Given the description of an element on the screen output the (x, y) to click on. 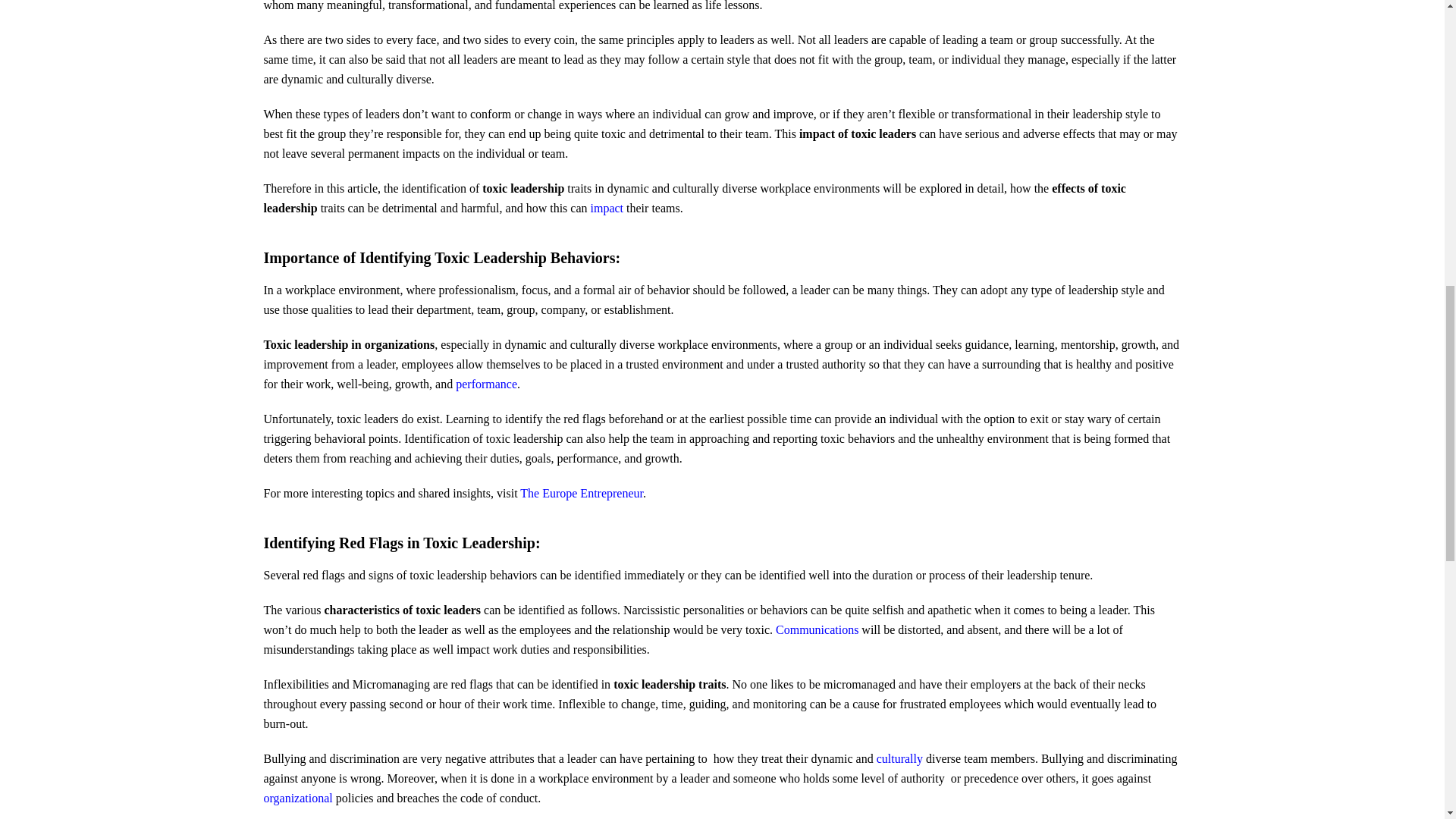
performance (485, 383)
The Europe Entrepreneur (581, 492)
organizational (298, 797)
culturally (899, 758)
Communications (817, 629)
impact (607, 207)
